Given the description of an element on the screen output the (x, y) to click on. 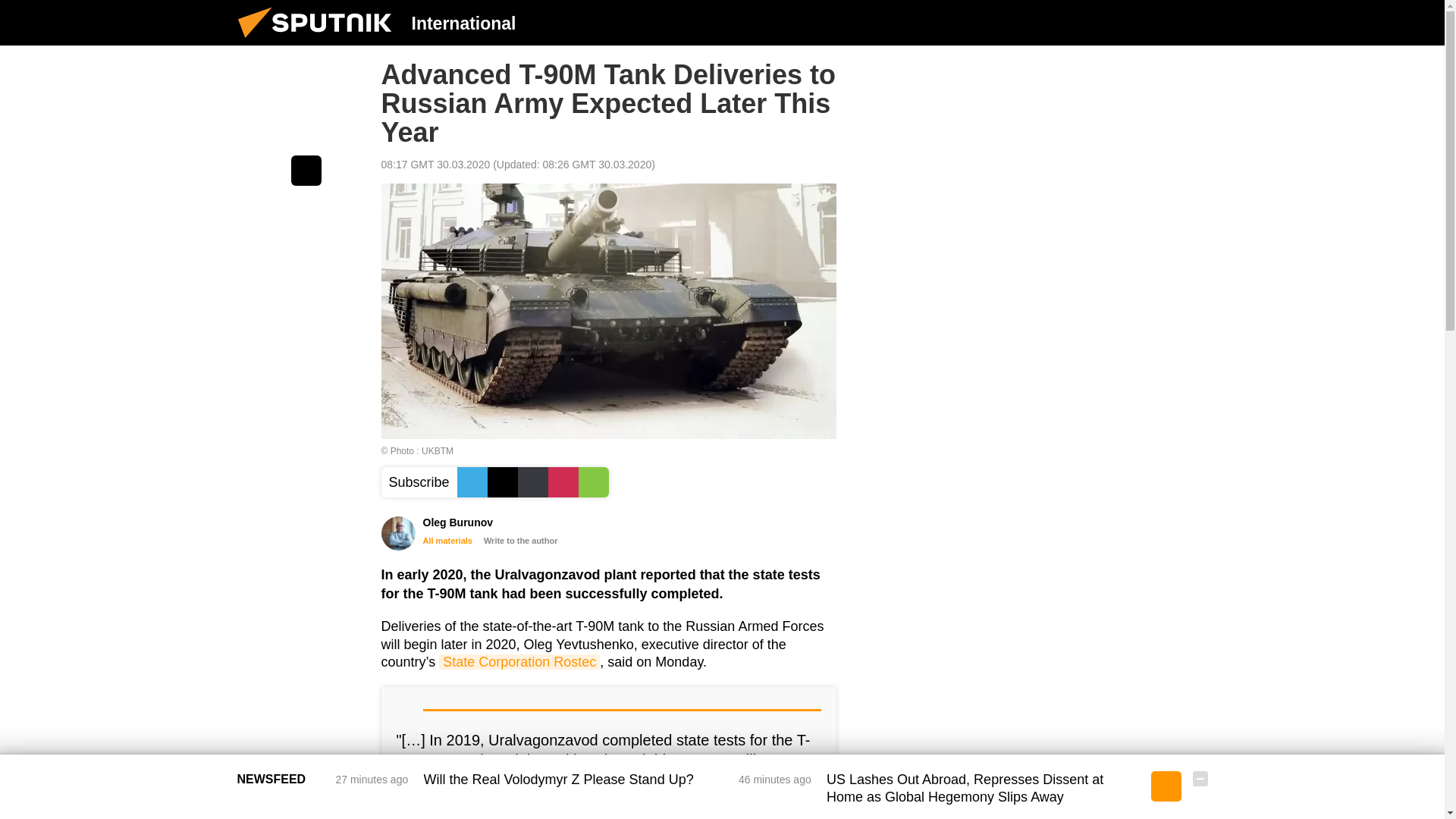
Sputnik International (319, 41)
Authorization (1123, 22)
Chats (1199, 22)
